Given the description of an element on the screen output the (x, y) to click on. 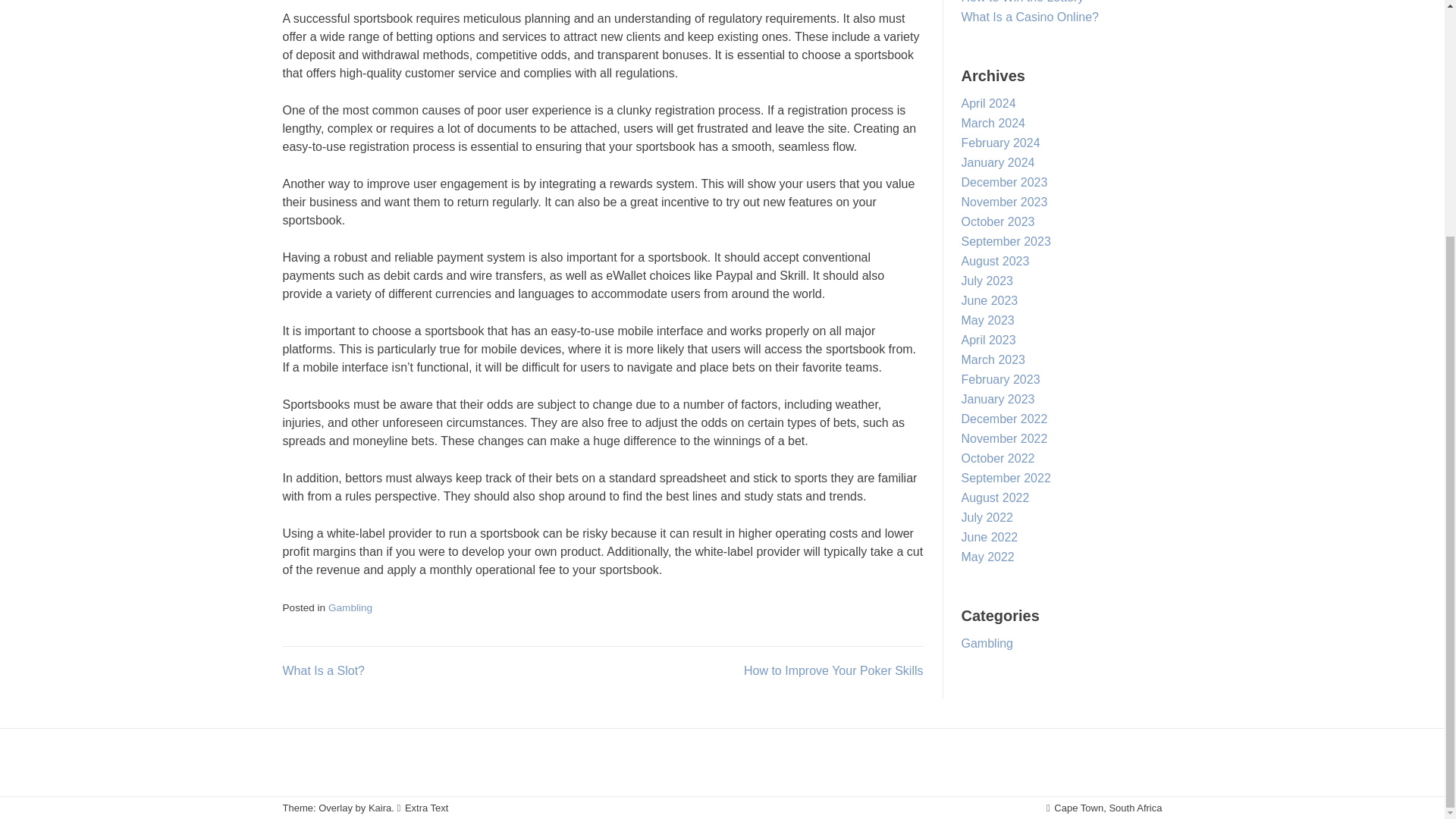
November 2023 (1004, 201)
January 2023 (997, 399)
September 2023 (1005, 241)
May 2023 (987, 319)
October 2023 (997, 221)
January 2024 (997, 162)
September 2022 (1005, 477)
February 2023 (1000, 379)
August 2022 (994, 497)
Gambling (350, 607)
December 2023 (1004, 182)
July 2023 (986, 280)
What Is a Casino Online? (1029, 16)
April 2023 (988, 339)
What Is a Slot? (323, 670)
